Given the description of an element on the screen output the (x, y) to click on. 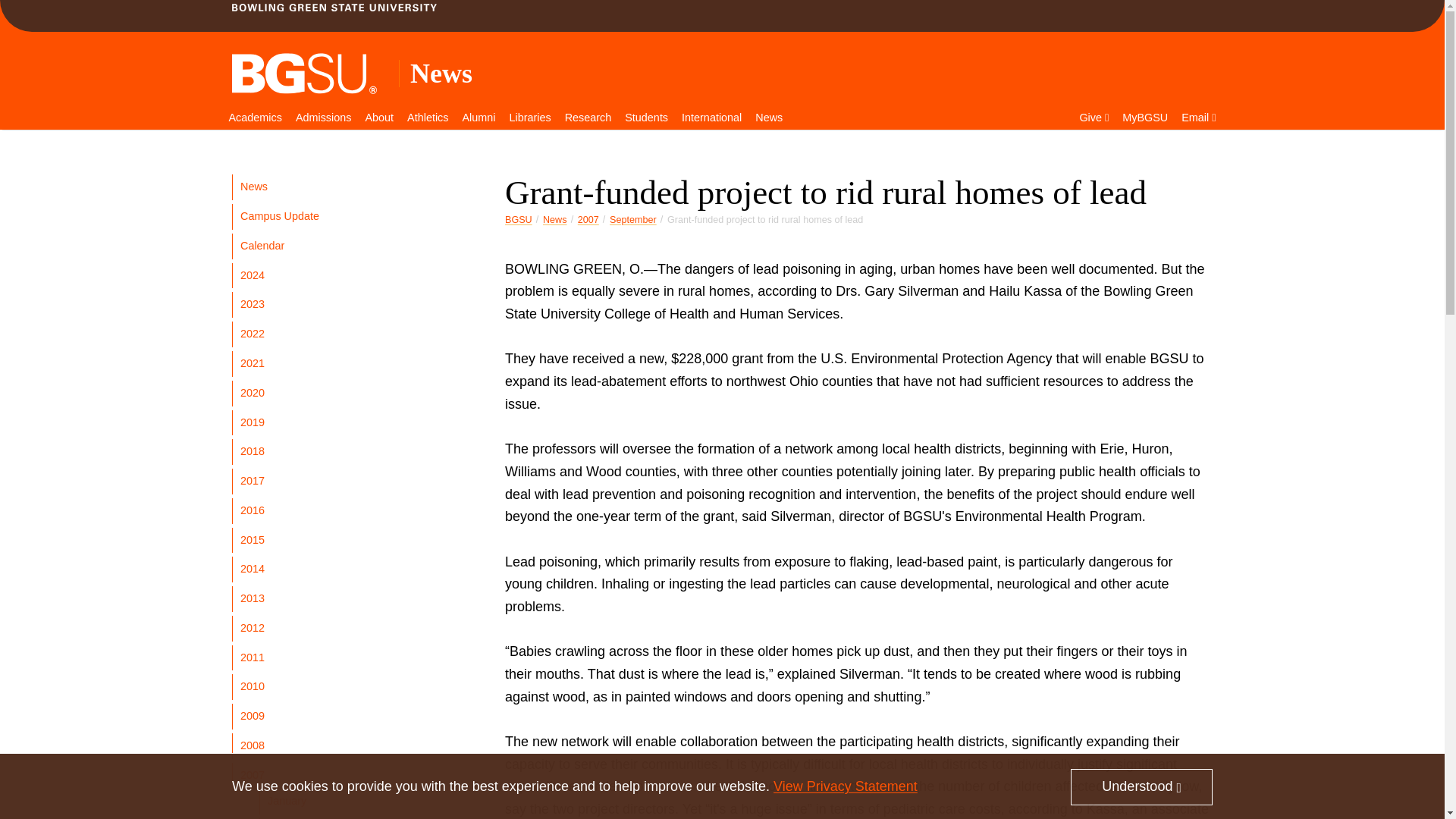
Understood  (1141, 785)
View Privacy Statement (845, 784)
News (440, 73)
